Given the description of an element on the screen output the (x, y) to click on. 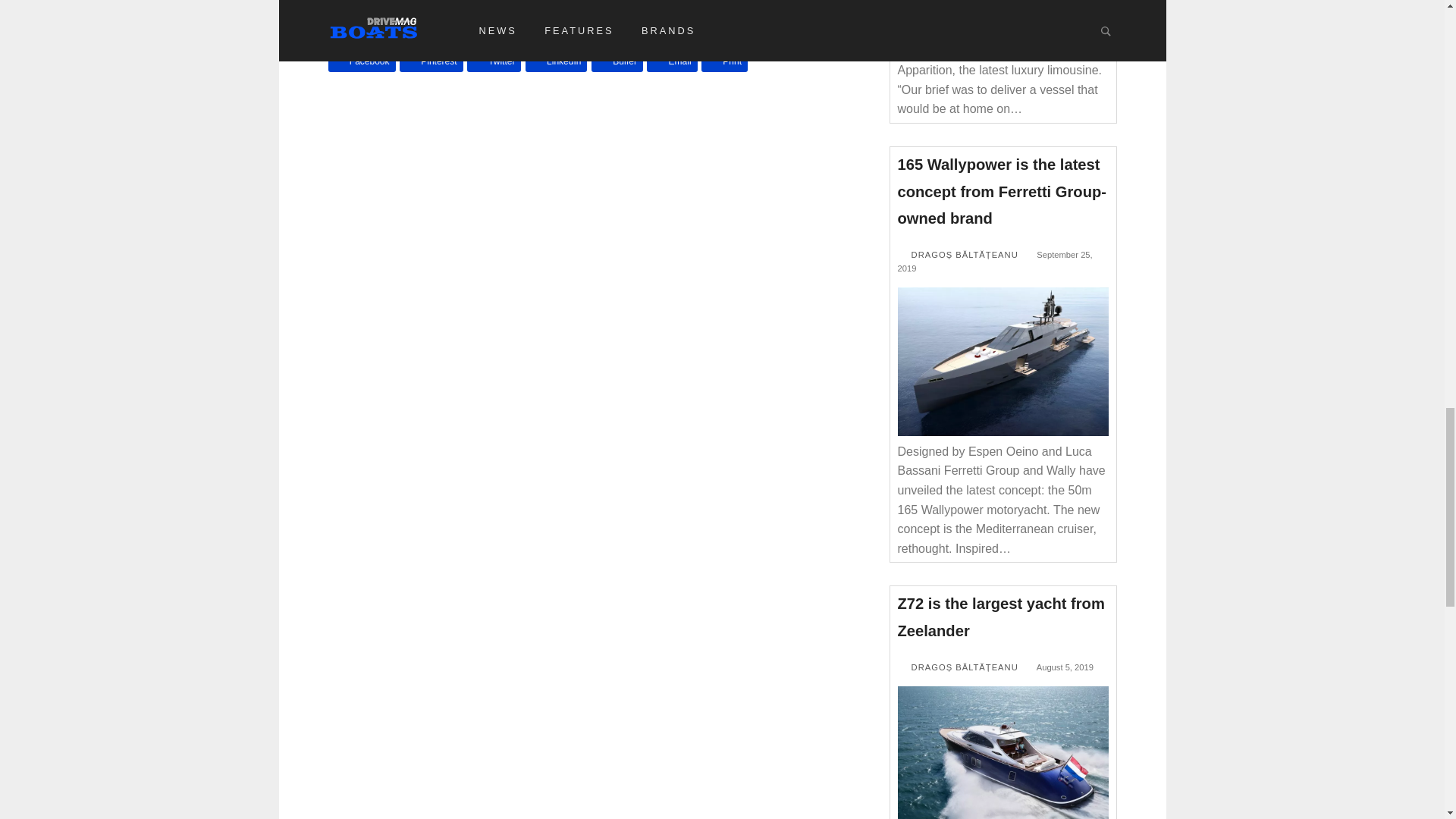
LinkedIn (556, 61)
Buffer (617, 61)
Facebook (360, 61)
VESSEL (427, 0)
Email (671, 61)
Twitter (494, 61)
Pinterest (430, 61)
Print (724, 61)
